Given the description of an element on the screen output the (x, y) to click on. 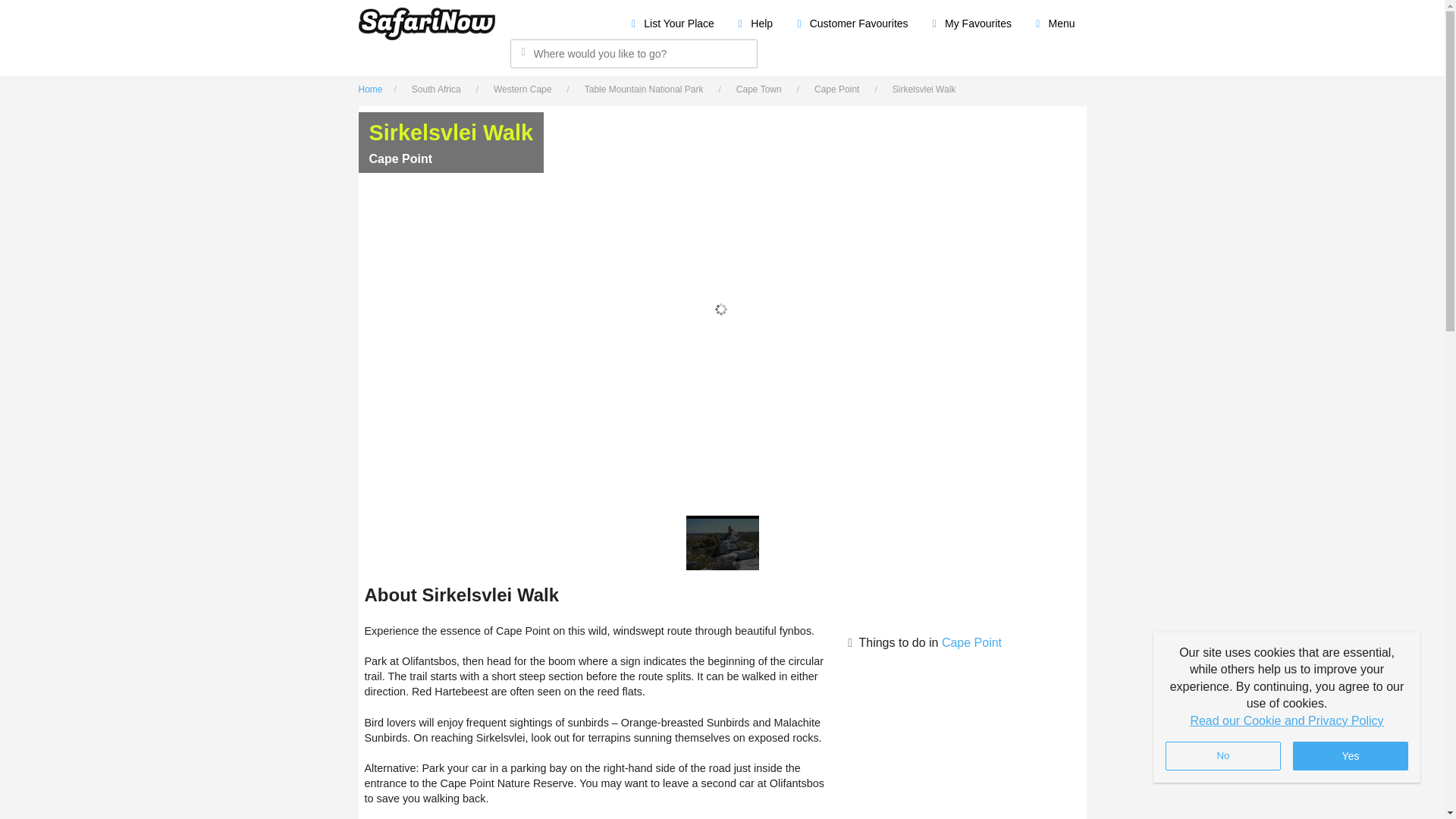
No (1223, 756)
Cape Point (840, 89)
Cape Point (971, 642)
List Your Place (671, 22)
Read our Cookie and Privacy Policy (1286, 720)
Menu (1054, 22)
Western Cape (525, 89)
Home (374, 89)
Customer Favourites (851, 22)
My Favourites (971, 22)
Help (754, 22)
Cape Town (762, 89)
Yes (1349, 756)
Home (374, 89)
South Africa (439, 89)
